Given the description of an element on the screen output the (x, y) to click on. 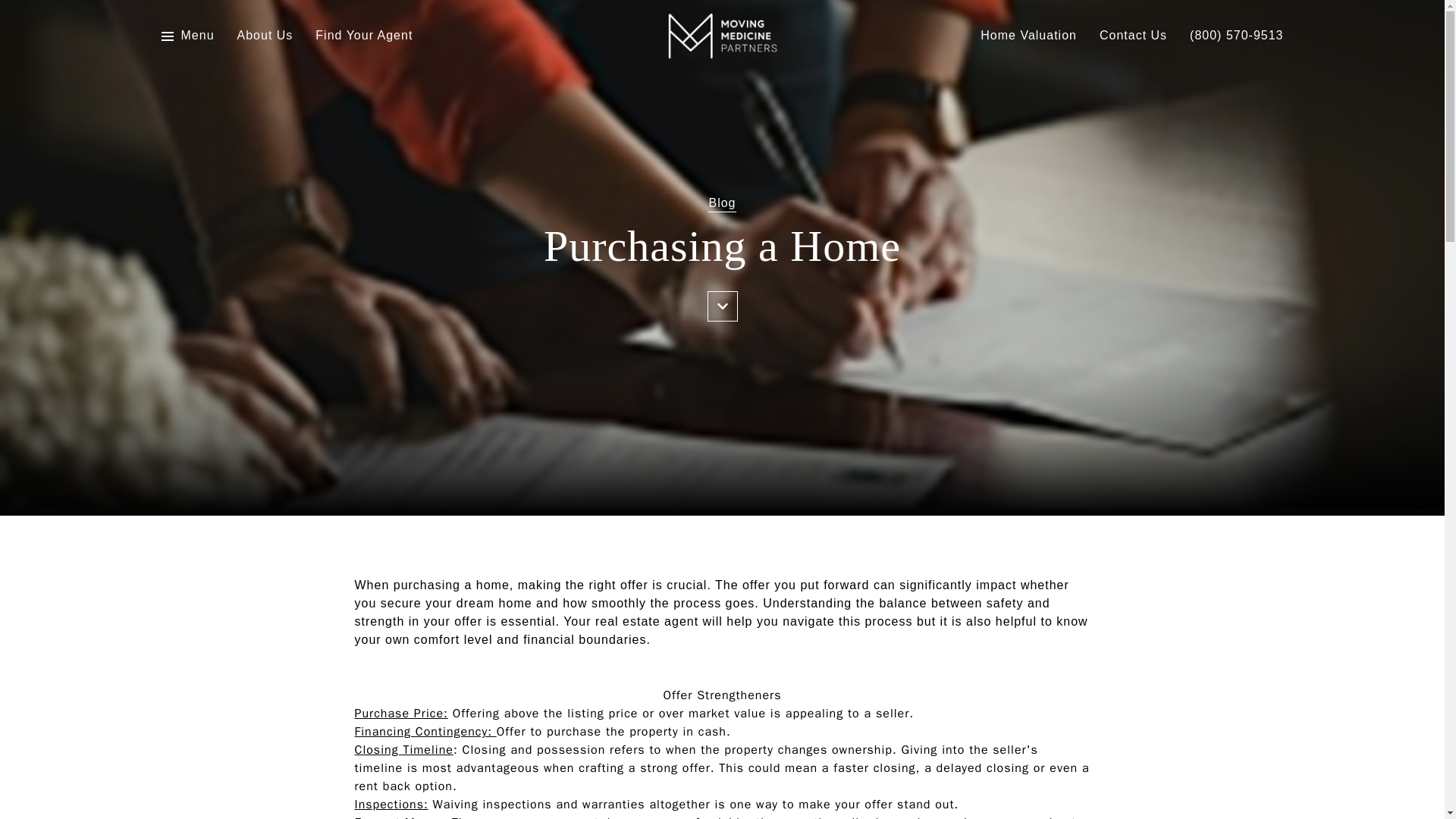
About Us (265, 35)
Home Valuation (1028, 35)
Menu (197, 35)
Contact Us (1133, 35)
Menu (187, 35)
Find Your Agent (363, 35)
